Given the description of an element on the screen output the (x, y) to click on. 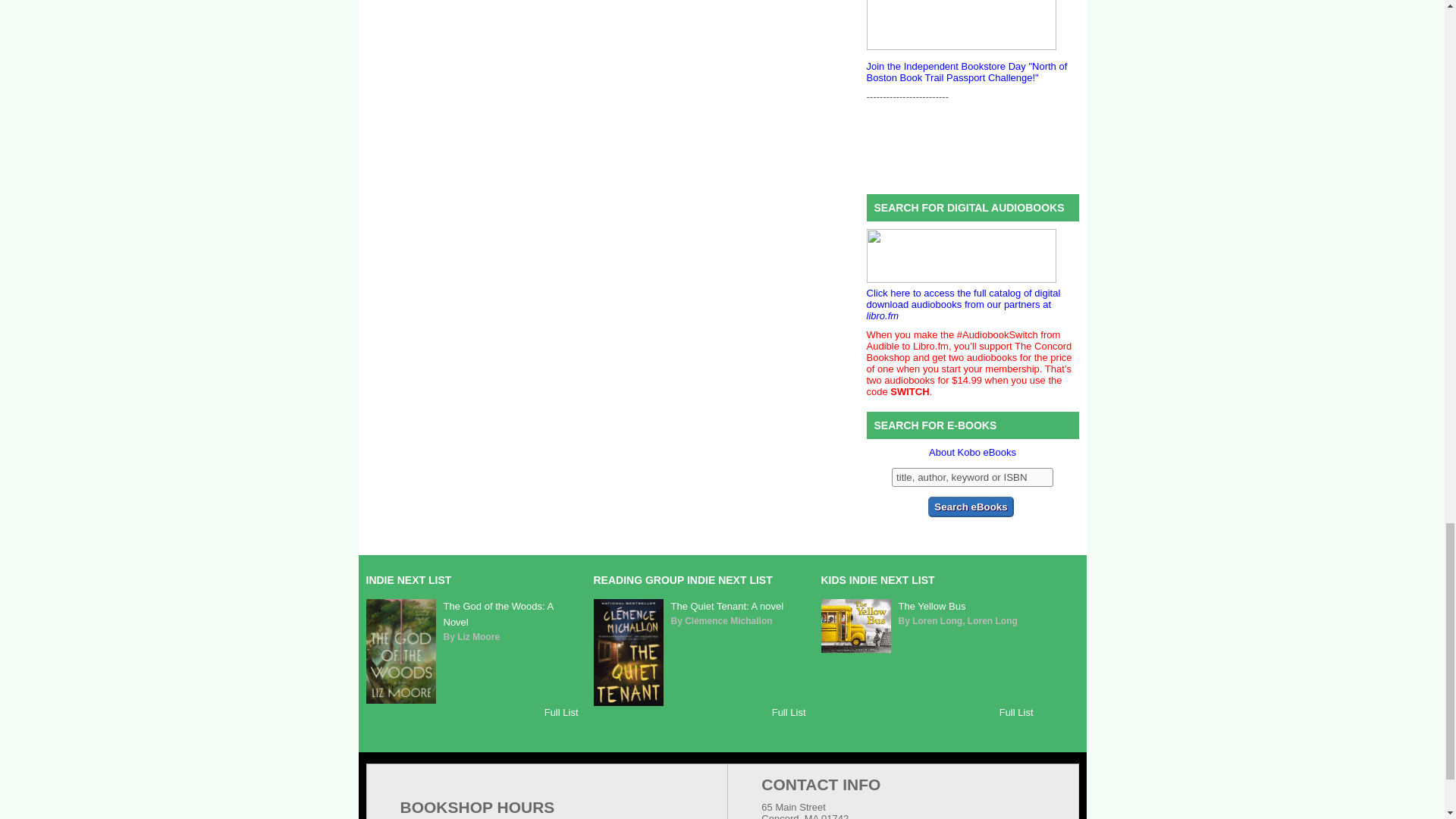
Search eBooks (970, 506)
Enter title, author, keyword or ISBN. (971, 476)
The God of the Woods: A Novel - by Liz Moore (400, 699)
title, author, keyword or ISBN (971, 476)
The God of the Woods: A Novel - by Liz Moore (497, 614)
The Yellow Bus - by Loren Long, Loren Long (855, 649)
